Given the description of an element on the screen output the (x, y) to click on. 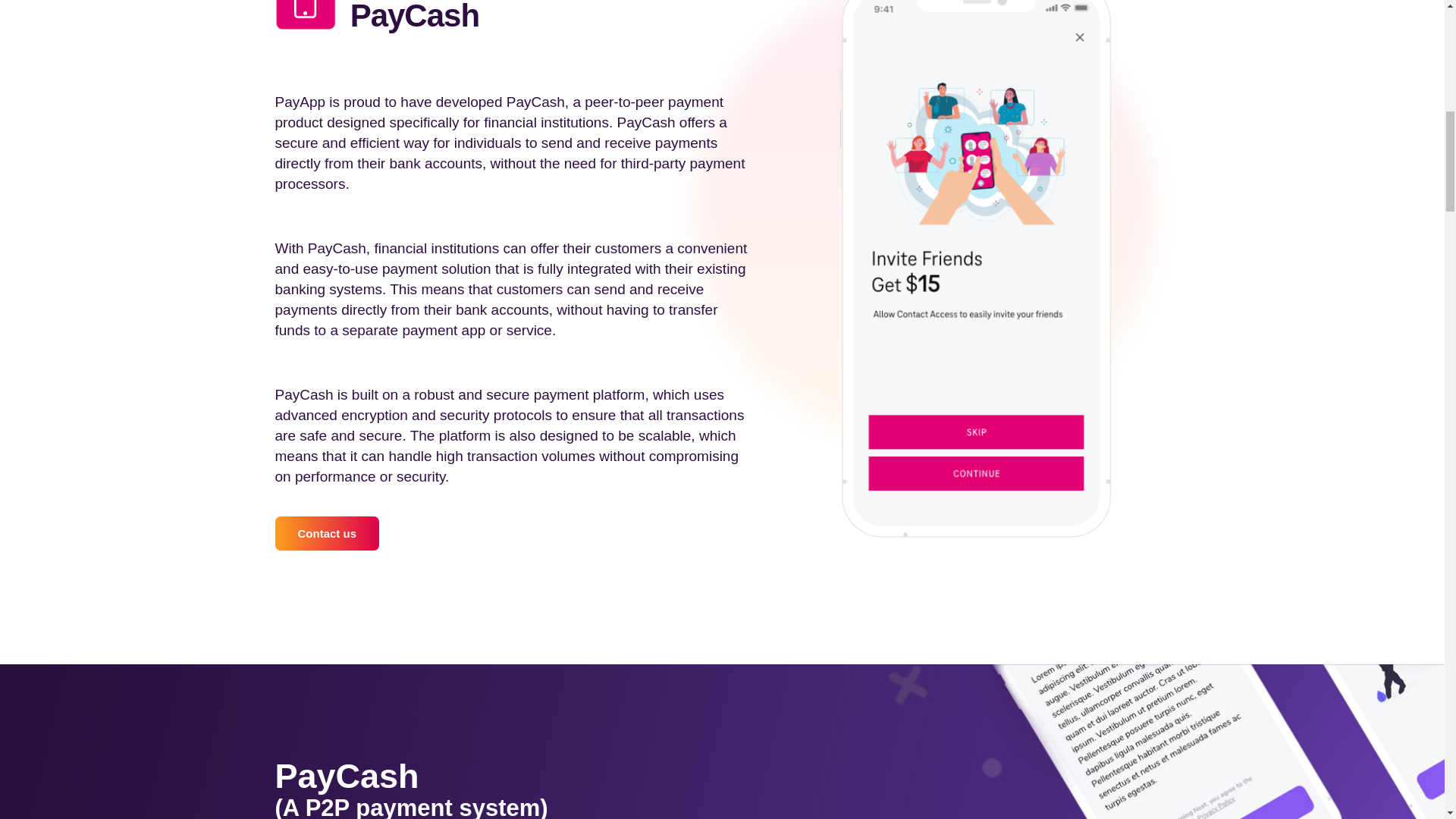
Contact us (326, 533)
icon001.png (304, 14)
